Given the description of an element on the screen output the (x, y) to click on. 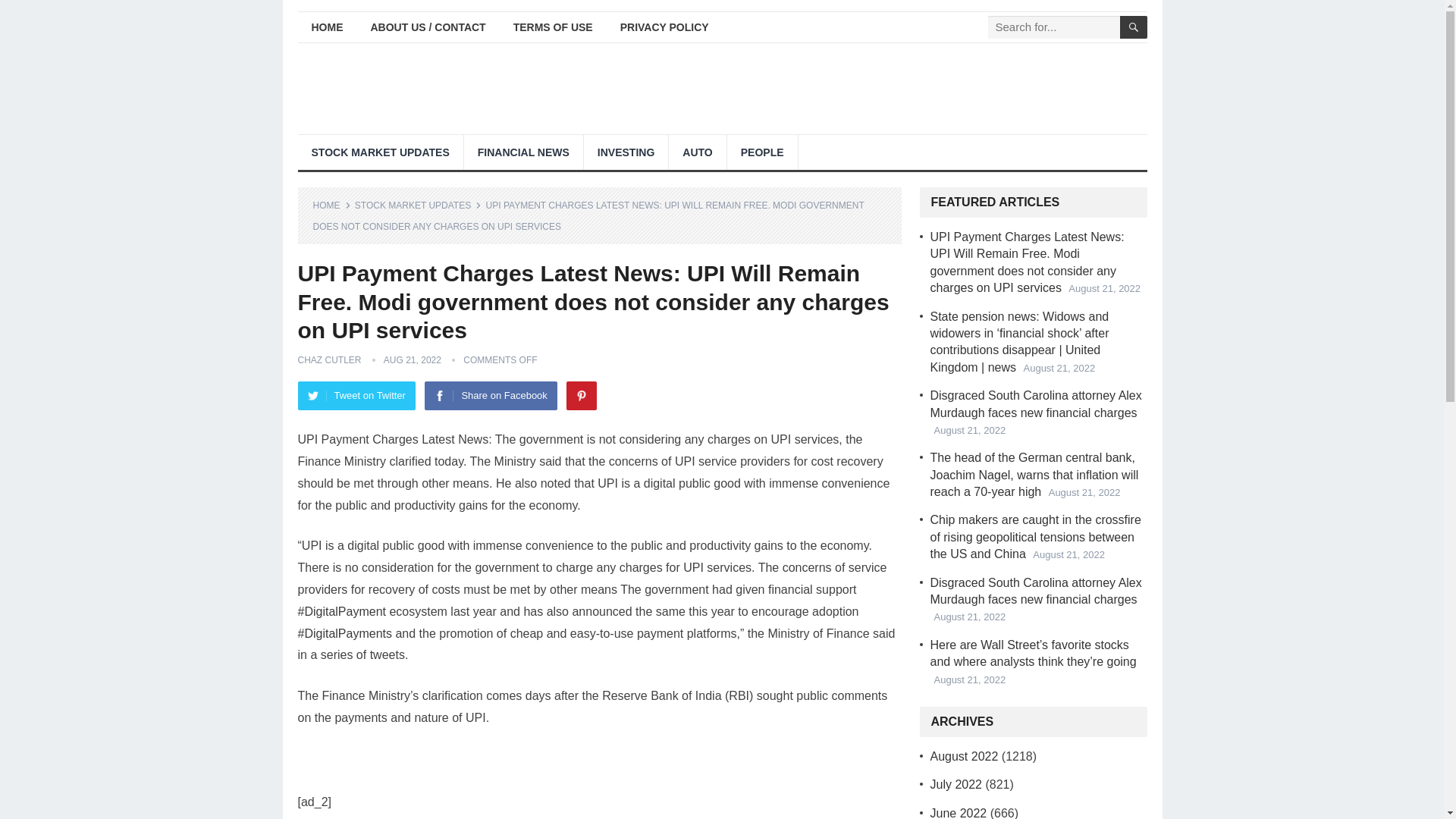
PEOPLE (761, 152)
Learn how to invest your (625, 152)
STOCK MARKET UPDATES (418, 204)
CHAZ CUTLER (329, 359)
Posts by Chaz Cutler (329, 359)
Pinterest (581, 395)
AUTO (696, 152)
STOCK MARKET UPDATES (380, 152)
FINANCIAL NEWS (523, 152)
INVESTING (625, 152)
View all posts in Stock Market Updates (418, 204)
HOME (326, 27)
TERMS OF USE (553, 27)
Share on Facebook (490, 395)
PRIVACY POLICY (664, 27)
